Given the description of an element on the screen output the (x, y) to click on. 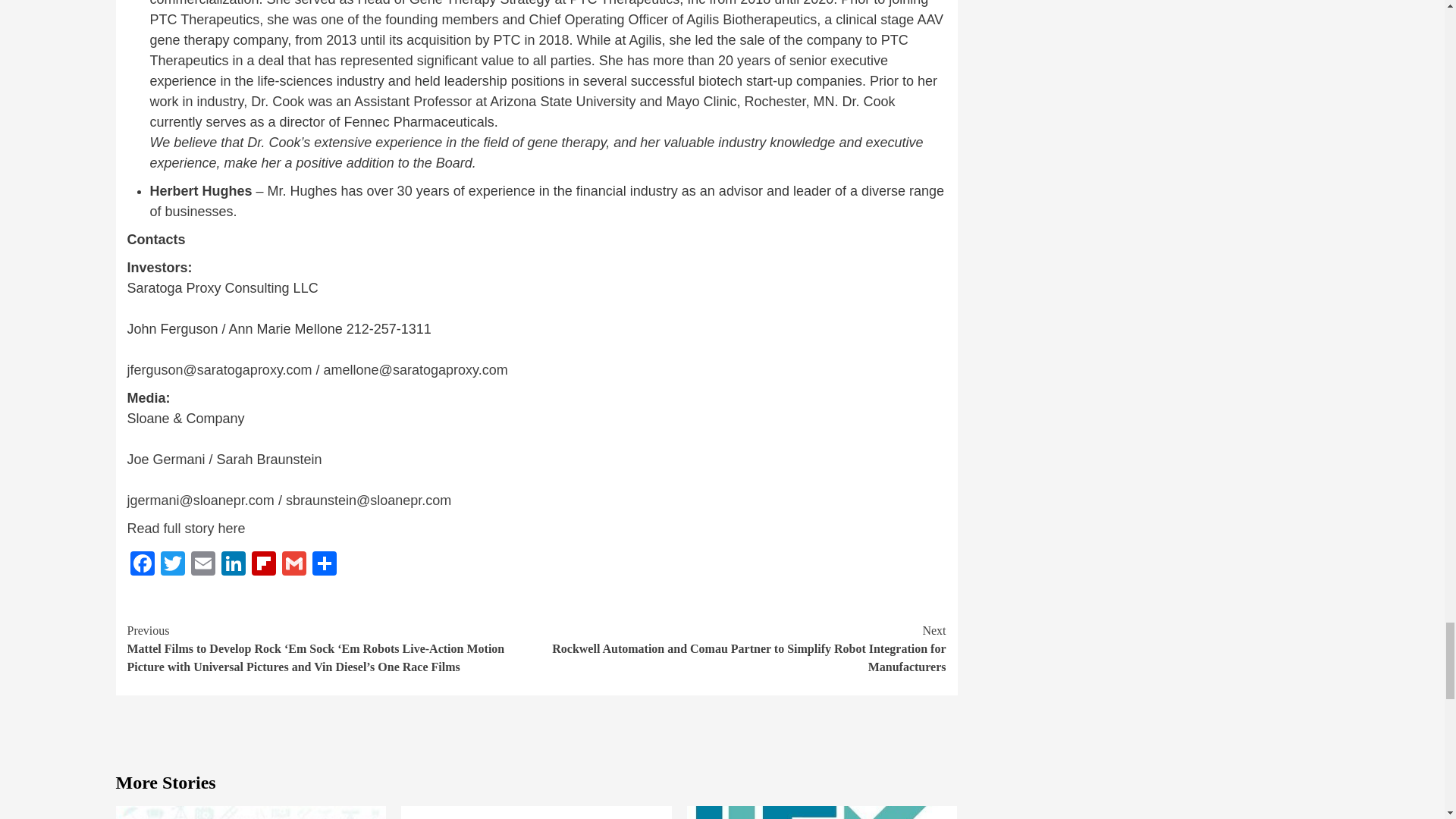
Twitter (172, 565)
Flipboard (263, 565)
Gmail (293, 565)
LinkedIn (233, 565)
Flipboard (263, 565)
Twitter (172, 565)
Email (202, 565)
Email (202, 565)
LinkedIn (233, 565)
Facebook (142, 565)
Facebook (142, 565)
Gmail (293, 565)
Read full story here (187, 528)
